Given the description of an element on the screen output the (x, y) to click on. 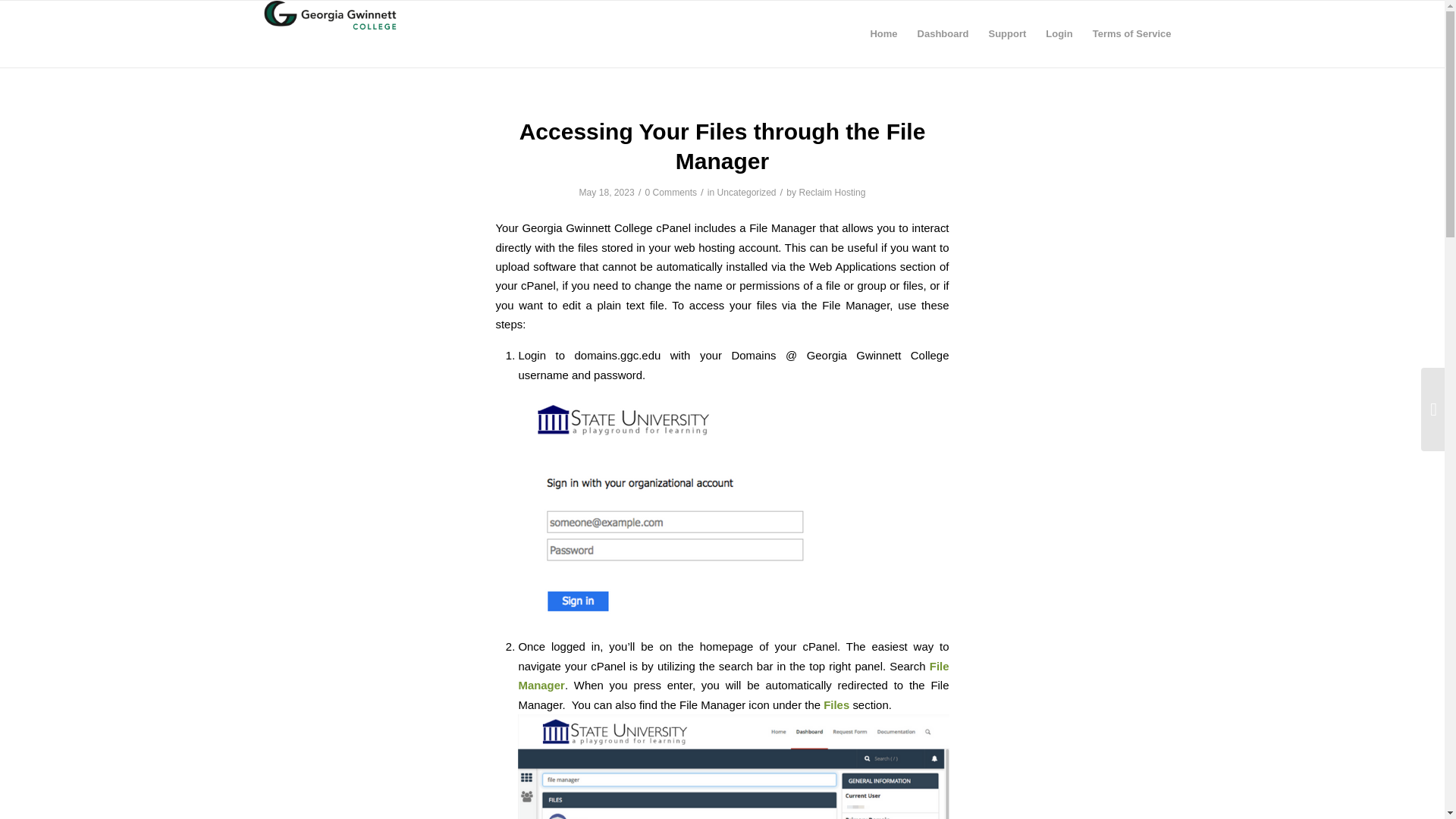
0 Comments (671, 192)
Reclaim Hosting (830, 192)
Terms of Service (1131, 33)
Dashboard (942, 33)
Posts by Reclaim Hosting (830, 192)
Uncategorized (746, 192)
